Given the description of an element on the screen output the (x, y) to click on. 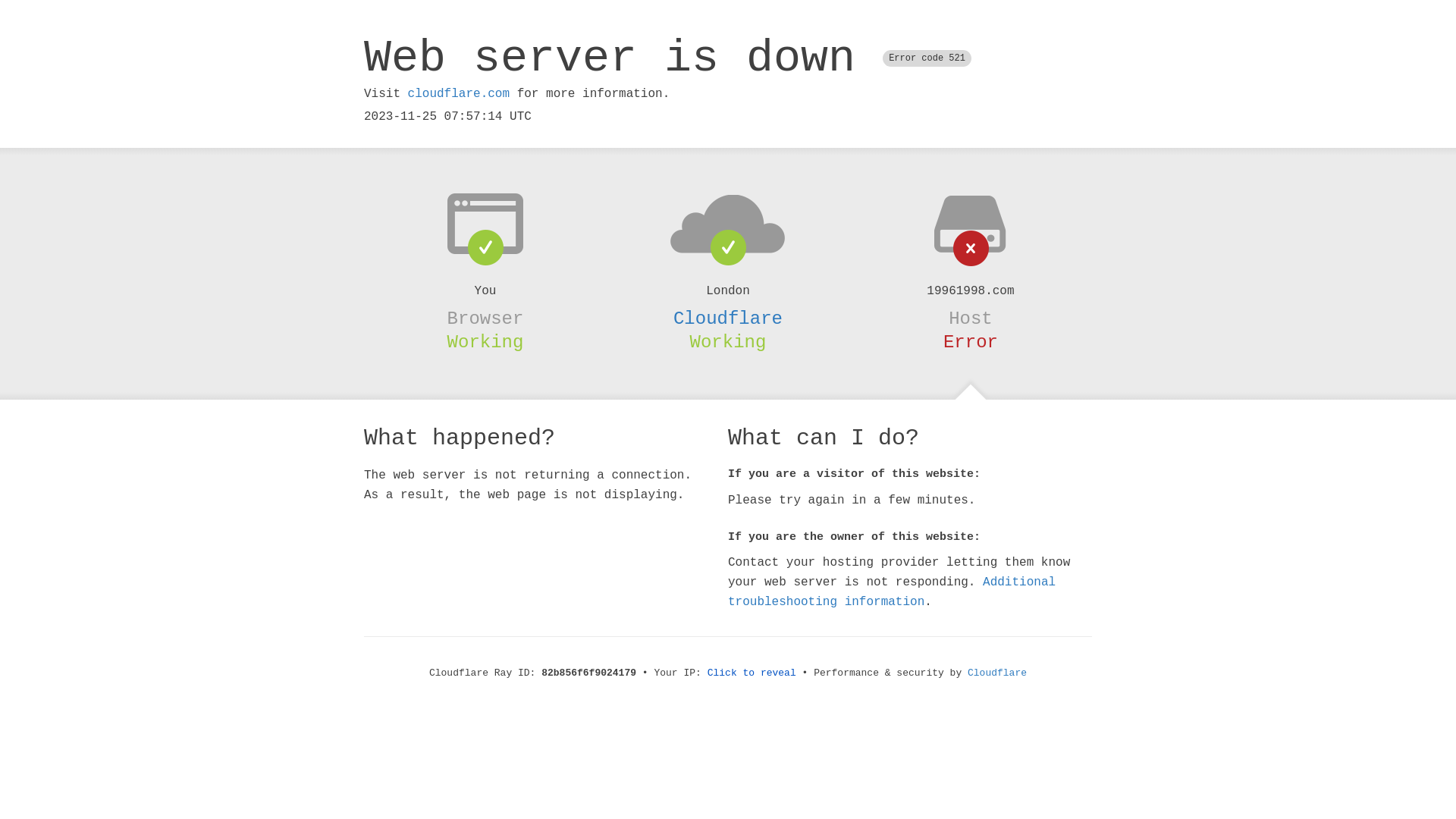
Cloudflare Element type: text (996, 672)
cloudflare.com Element type: text (458, 93)
Click to reveal Element type: text (751, 672)
Additional troubleshooting information Element type: text (891, 591)
Cloudflare Element type: text (727, 318)
